Given the description of an element on the screen output the (x, y) to click on. 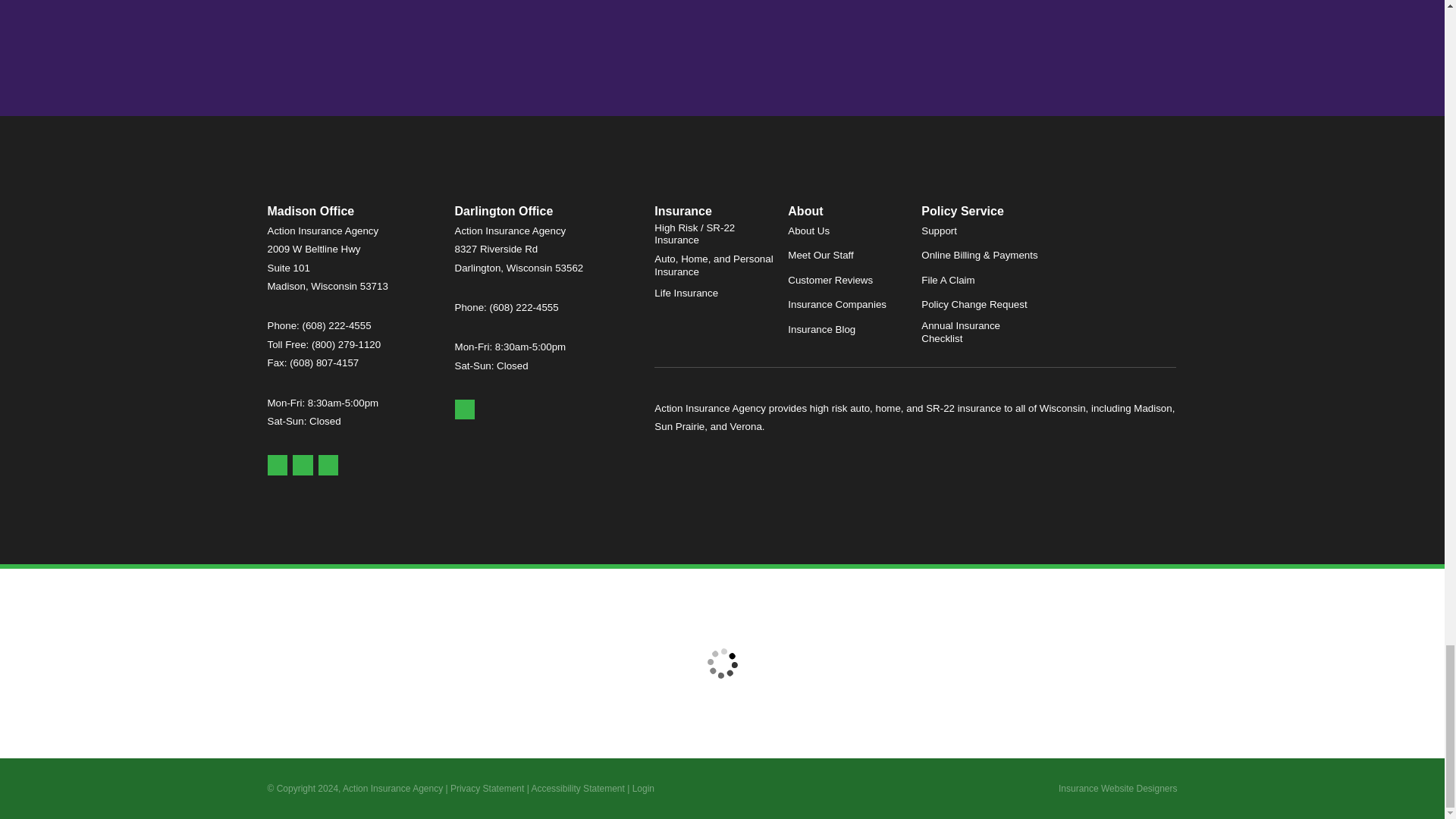
Yelp (302, 465)
Facebook (328, 465)
Google Maps (465, 409)
Family (472, 15)
Google Maps (276, 465)
